Given the description of an element on the screen output the (x, y) to click on. 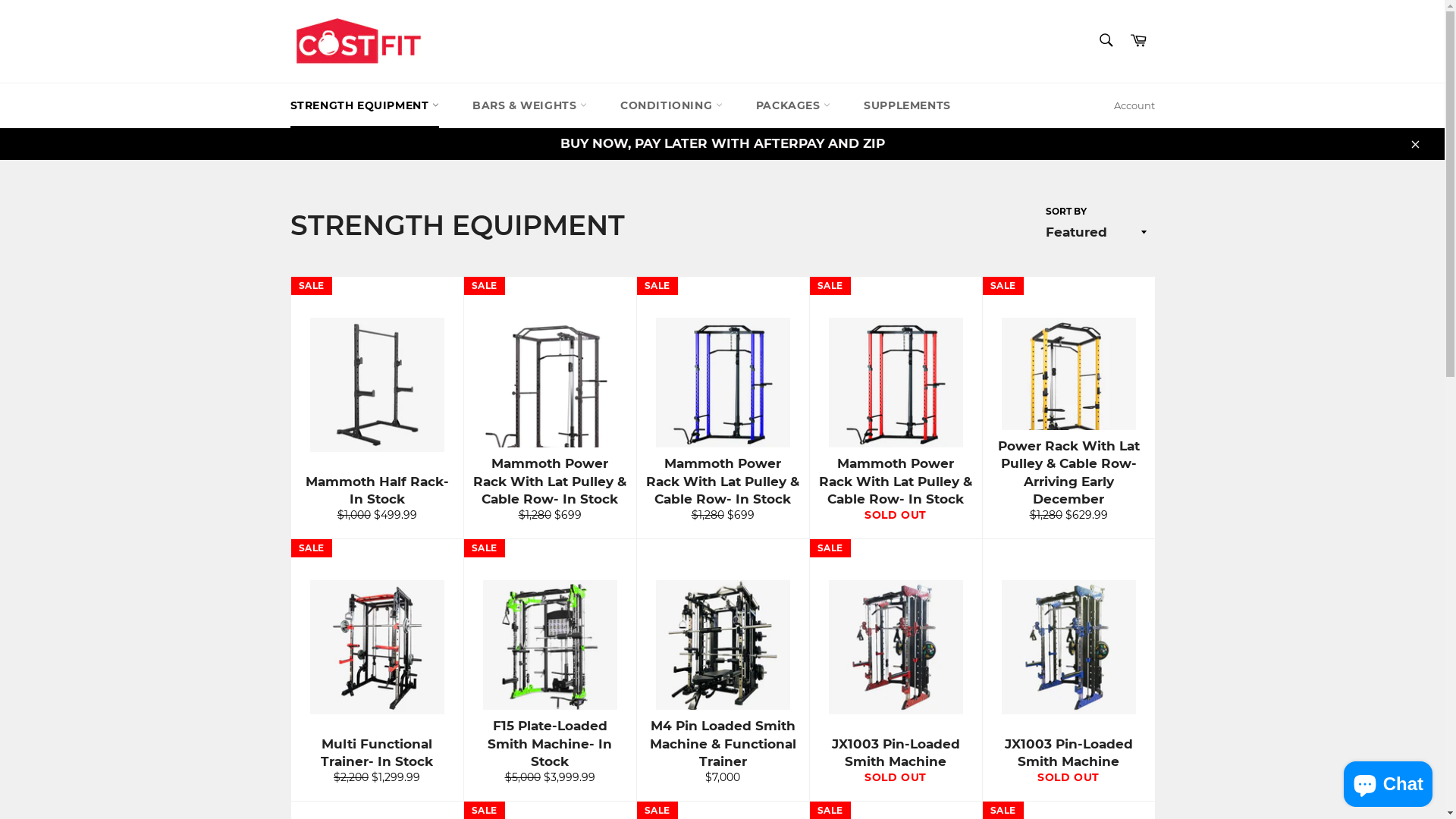
Shopify online store chat Element type: hover (1388, 780)
CONDITIONING Element type: text (671, 105)
Cart Element type: text (1138, 41)
Account Element type: text (1133, 106)
SUPPLEMENTS Element type: text (907, 105)
STRENGTH EQUIPMENT Element type: text (363, 105)
Search Element type: text (1105, 40)
PACKAGES Element type: text (792, 105)
BARS & WEIGHTS Element type: text (529, 105)
JX1003 Pin-Loaded Smith Machine
SOLD OUT Element type: text (1067, 670)
Close Element type: text (1414, 143)
JX1003 Pin-Loaded Smith Machine
SOLD OUT
SALE Element type: text (894, 670)
